Given the description of an element on the screen output the (x, y) to click on. 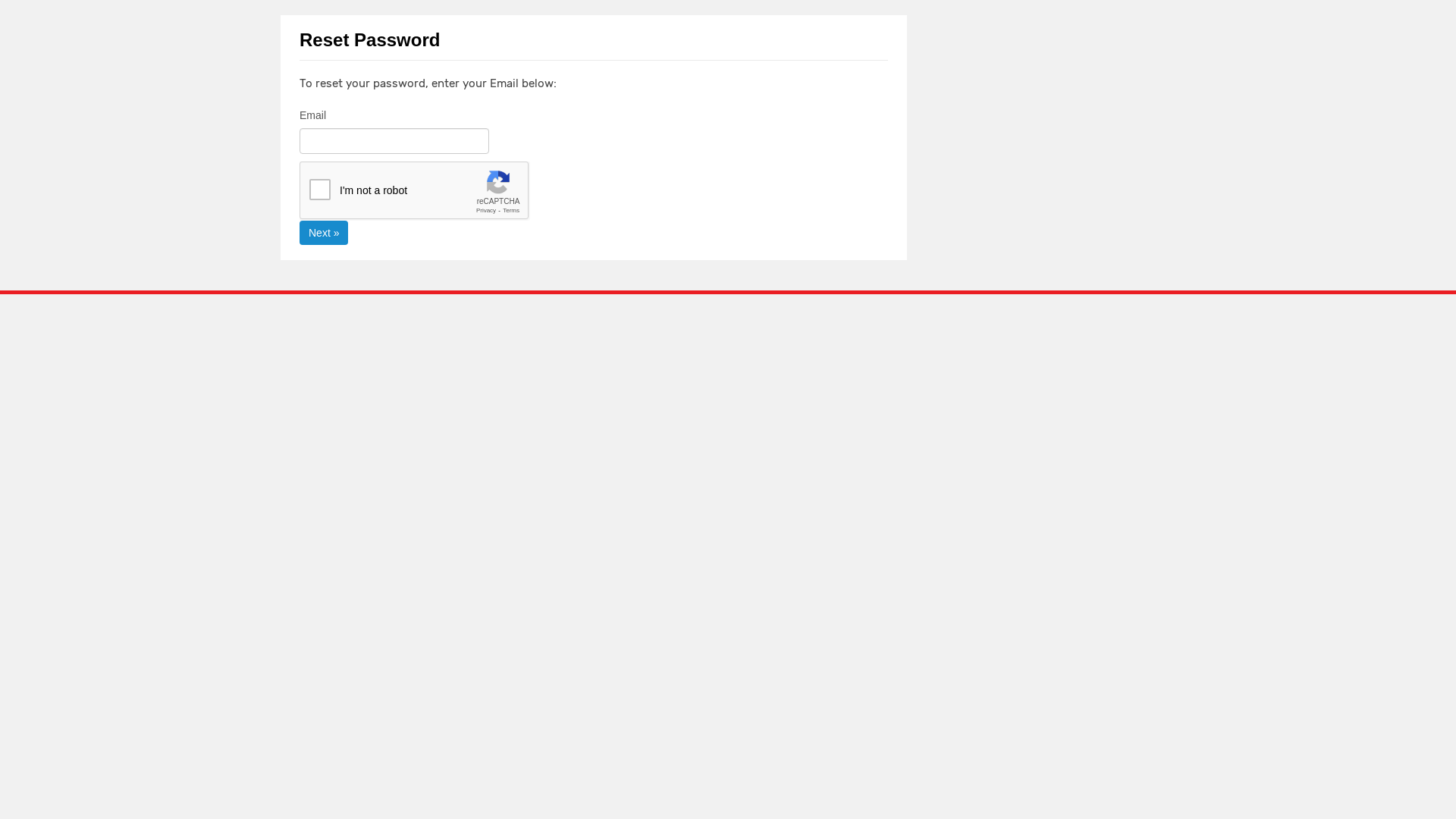
reCAPTCHA Element type: hover (414, 190)
